Given the description of an element on the screen output the (x, y) to click on. 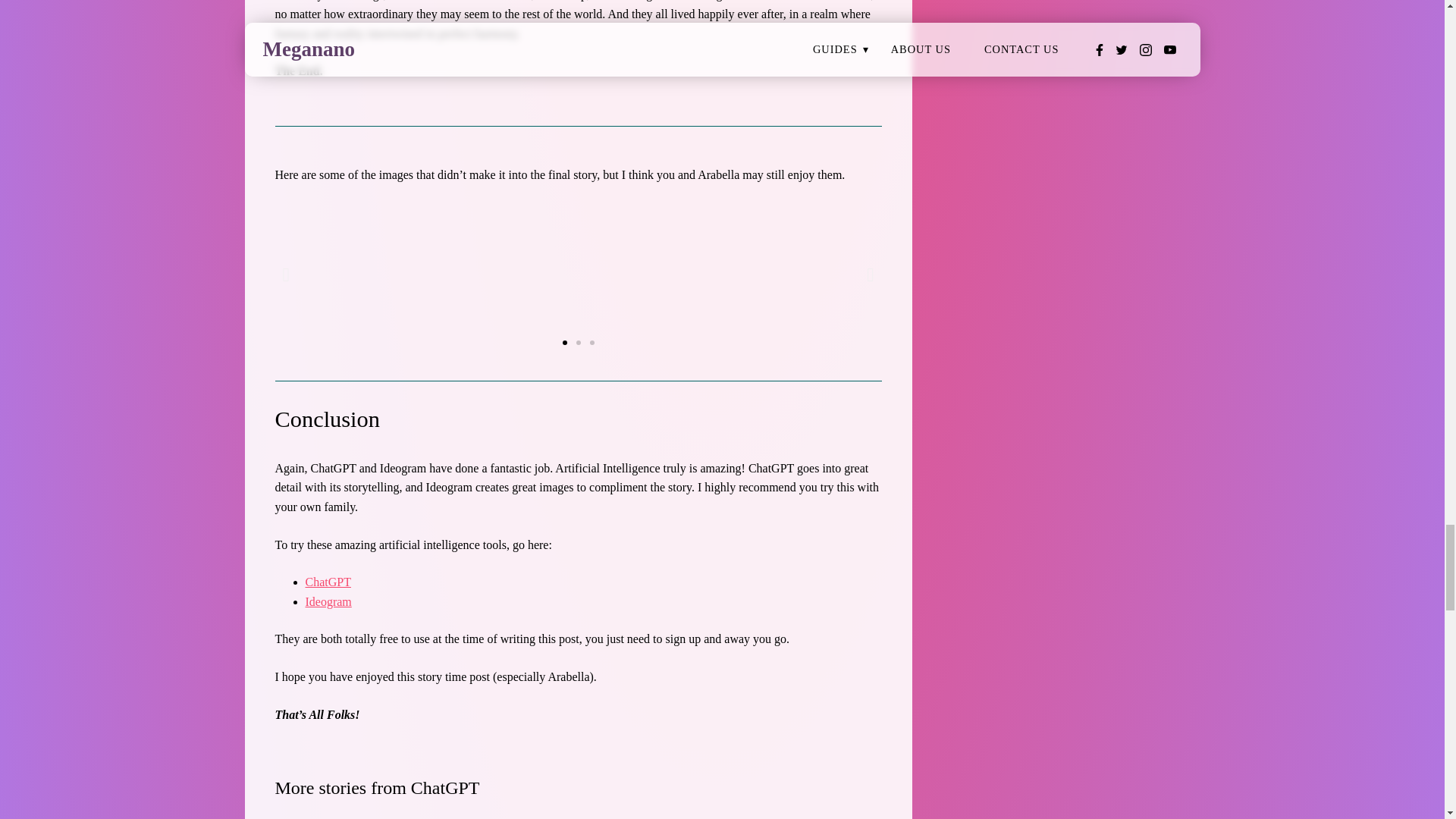
Ideogram (327, 601)
ChatGPT (327, 581)
